Given the description of an element on the screen output the (x, y) to click on. 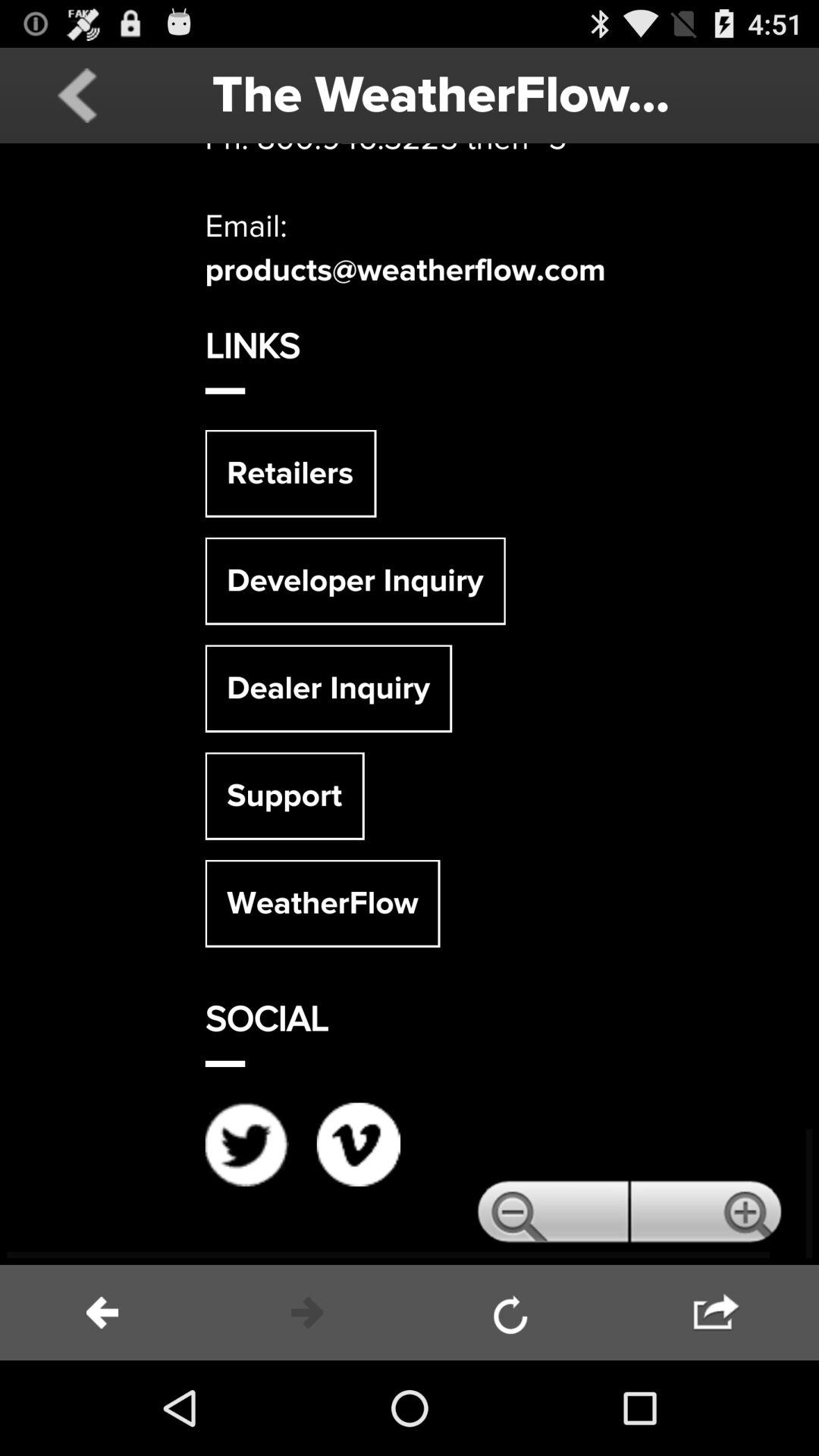
go to next page (716, 1312)
